Given the description of an element on the screen output the (x, y) to click on. 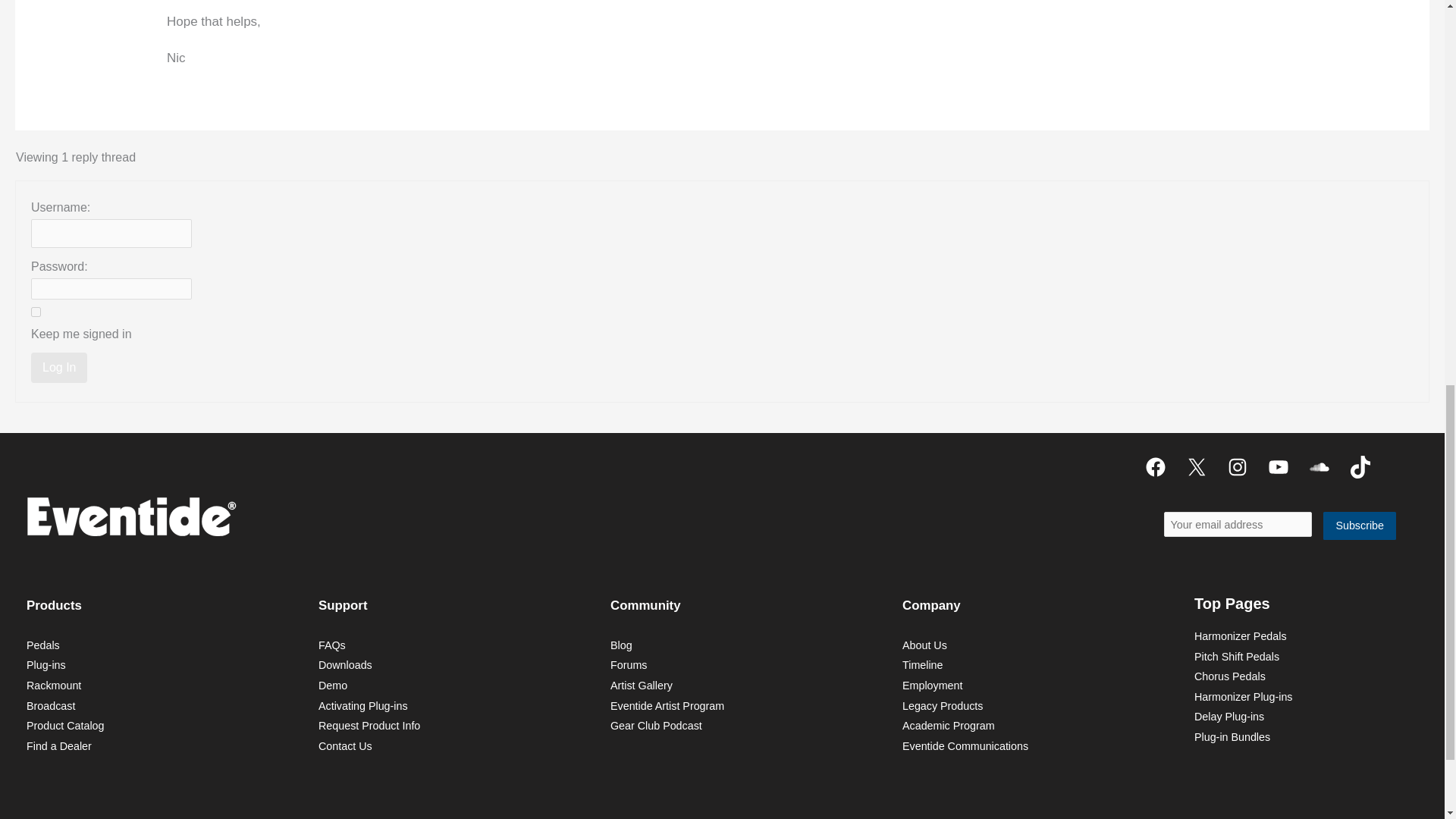
Subscribe (1359, 525)
eventide-logo-white (130, 516)
forever (35, 311)
